Given the description of an element on the screen output the (x, y) to click on. 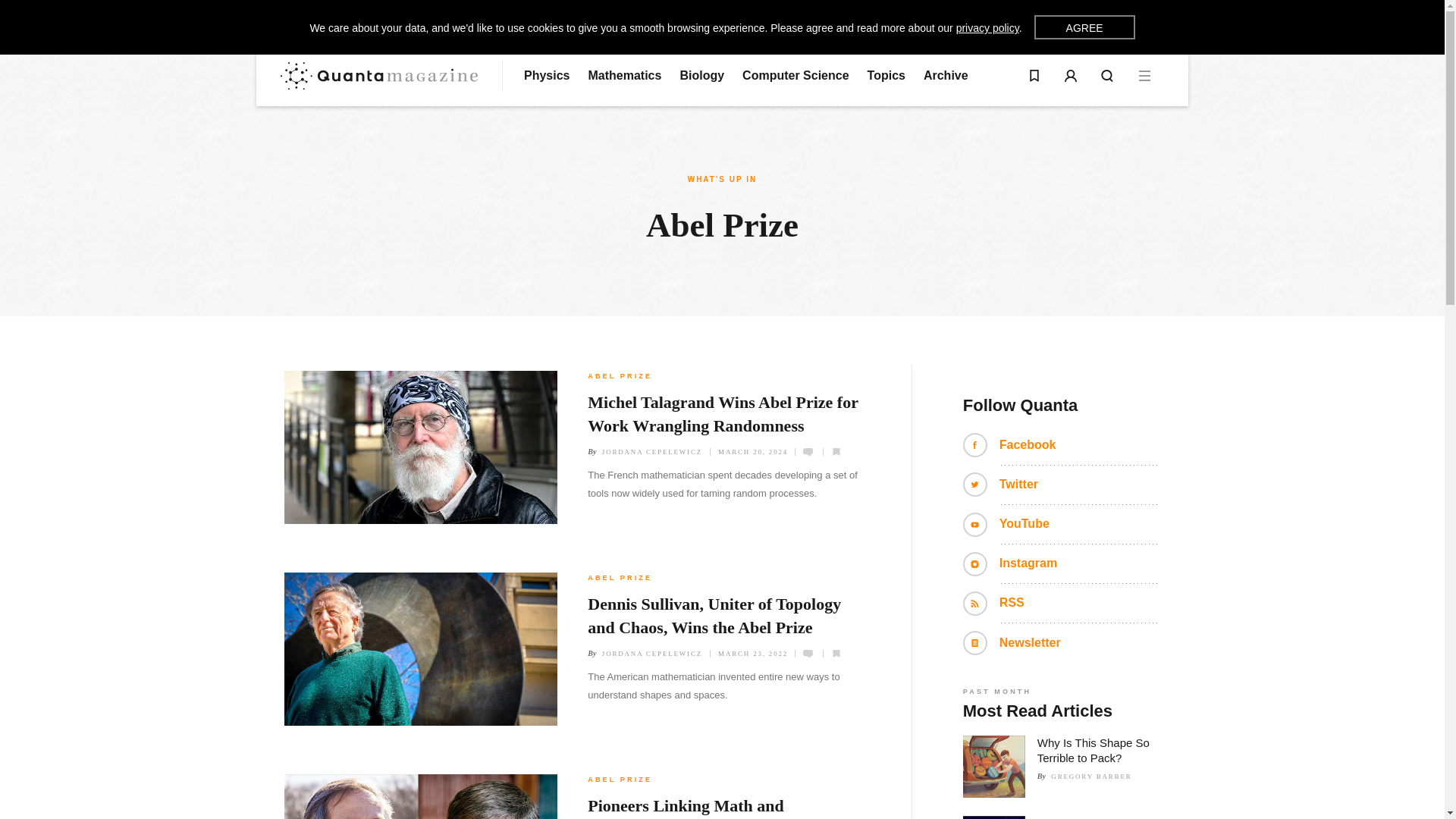
Search (1106, 75)
Mathematics (624, 75)
Saved articles (1034, 75)
privacy policy (987, 28)
ABEL PRIZE (620, 376)
Login (1070, 75)
Login (1070, 75)
Search (1106, 75)
AGREE (1084, 27)
Saved articles (1034, 75)
ABEL PRIZE (620, 577)
Computer Science (795, 75)
JORDANA CEPELEWICZ (651, 653)
